Given the description of an element on the screen output the (x, y) to click on. 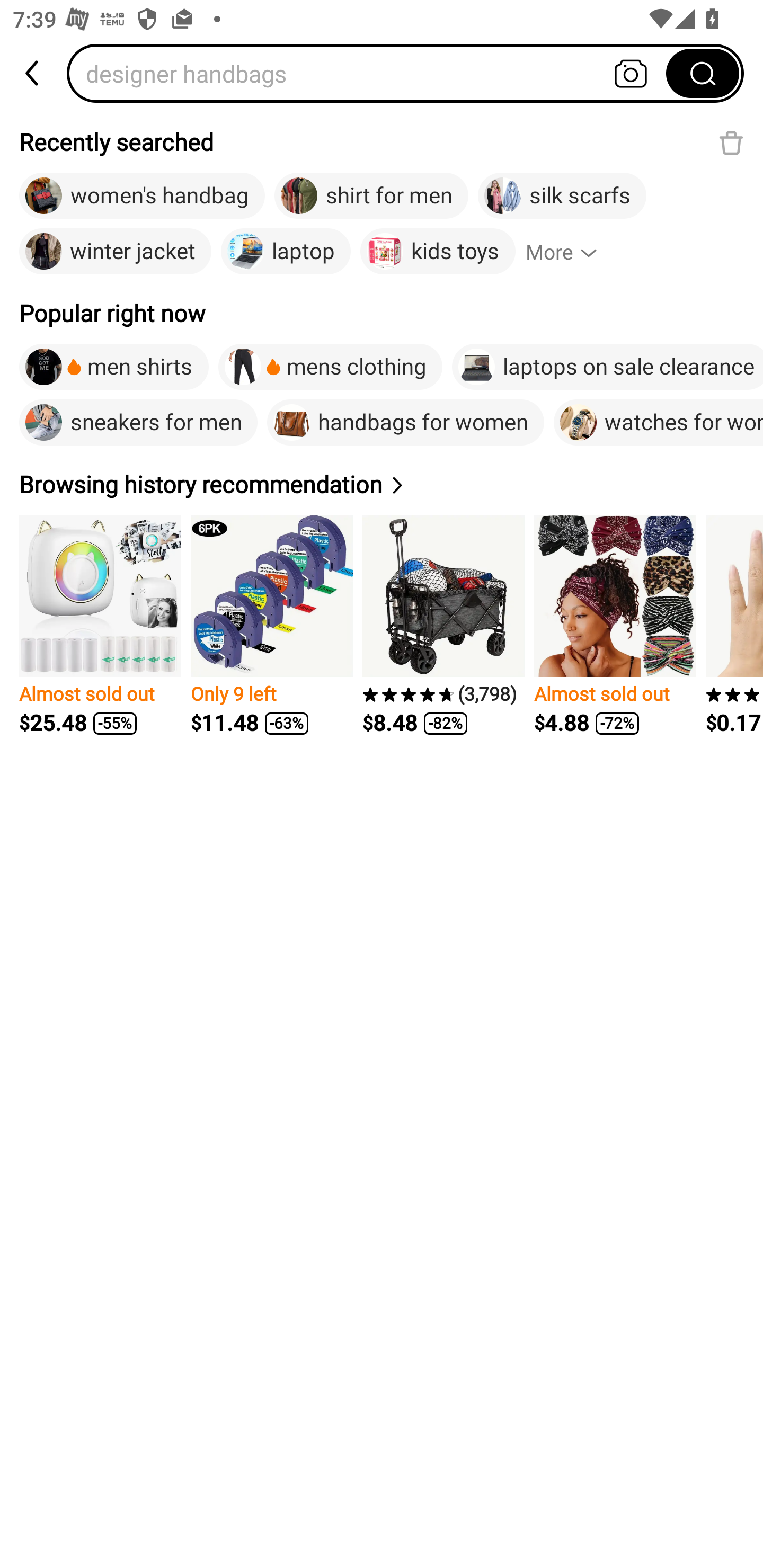
back (33, 72)
designer handbags (372, 73)
Search by photo (630, 73)
Delete recent search (731, 142)
women's handbag (141, 195)
shirt for men (371, 195)
silk scarfs (561, 195)
winter jacket (115, 251)
laptop (285, 251)
kids toys (437, 251)
More (569, 251)
men shirts (114, 366)
mens clothing (330, 366)
laptops on sale clearance (607, 366)
sneakers for men (138, 422)
handbags for women (405, 422)
watches for women (658, 422)
Browsing history recommendation (213, 484)
Almost sold out $25.48 -55% (100, 625)
Only 9 left $11.48 -63% (271, 625)
(3,798) $8.48 -82% (443, 625)
Almost sold out $4.88 -72% (614, 625)
